Given the description of an element on the screen output the (x, y) to click on. 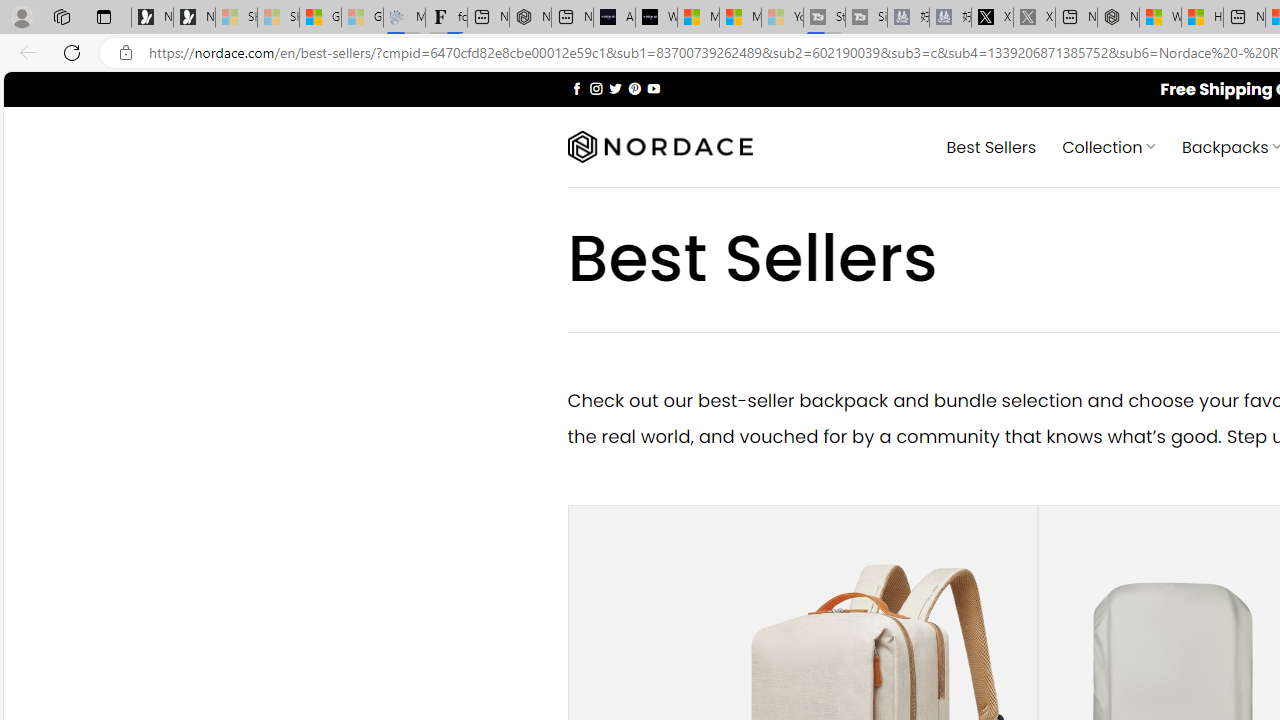
Newsletter Sign Up (194, 17)
Streaming Coverage | T3 - Sleeping (823, 17)
Nordace - My Account (1118, 17)
Wildlife - MSN (1160, 17)
X - Sleeping (1033, 17)
What's the best AI voice generator? - voice.ai (656, 17)
Workspaces (61, 16)
